Given the description of an element on the screen output the (x, y) to click on. 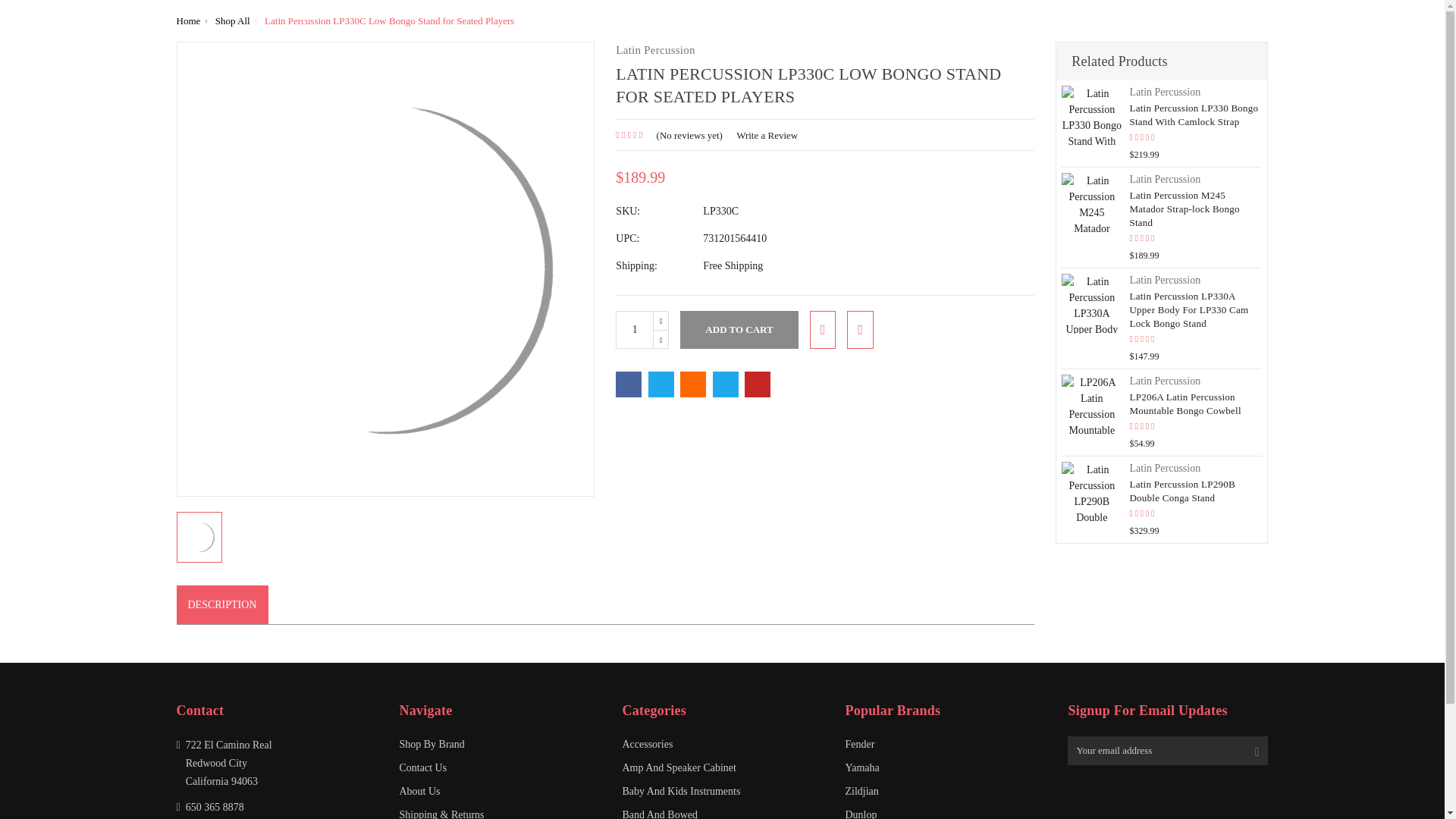
Add to Cart (738, 329)
1 (634, 329)
Latin Percussion M245 Matador Strap-lock Bongo Stand (1091, 202)
Latin Percussion LP290B Double Conga Stand (1091, 491)
LP206A Latin Percussion Mountable Bongo Cowbell (1091, 404)
Latin Percussion LP330 Bongo Stand With Camlock Strap (1091, 115)
